Given the description of an element on the screen output the (x, y) to click on. 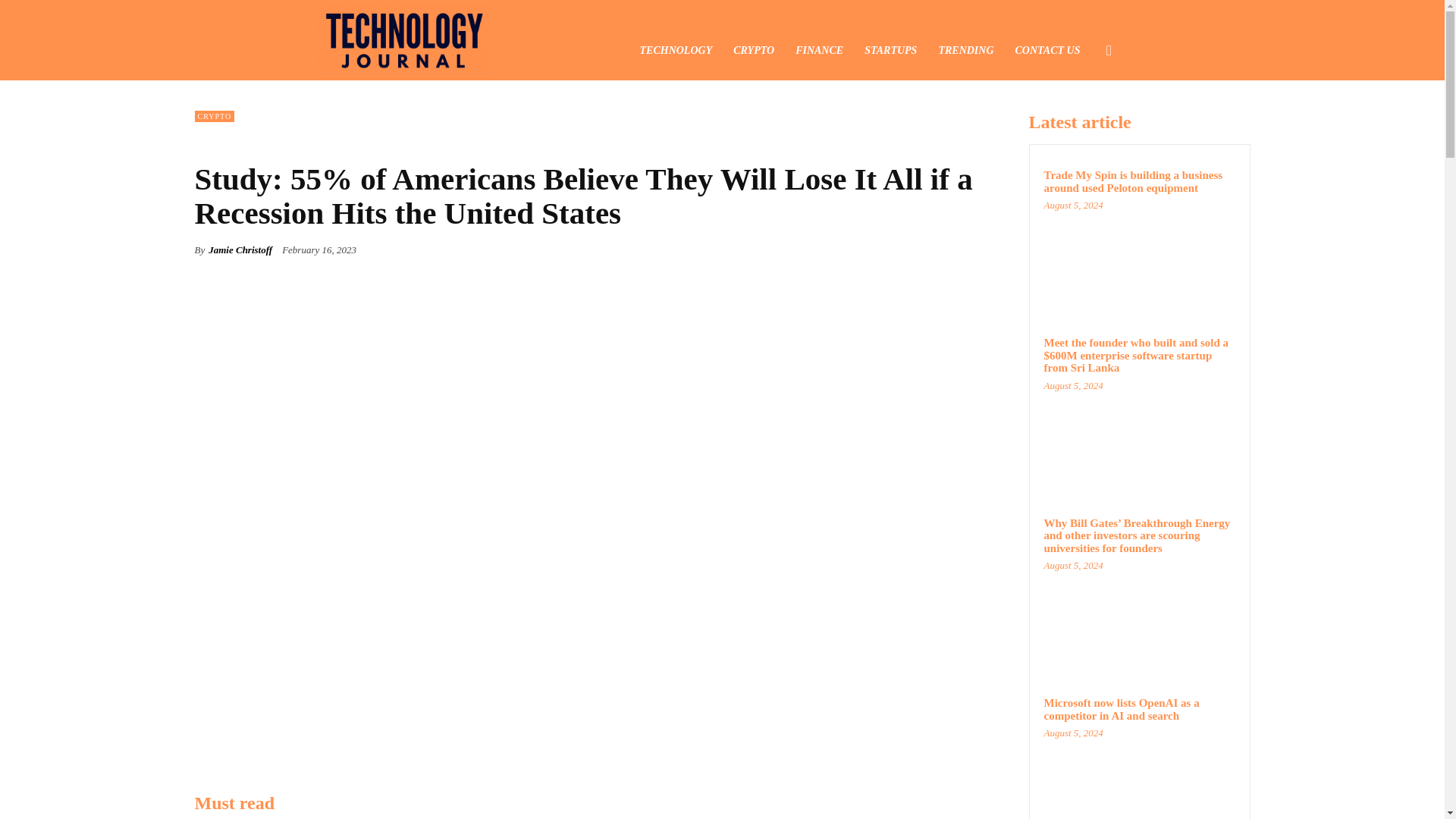
Jamie Christoff (240, 249)
FINANCE (818, 50)
CRYPTO (213, 116)
Technology Journal Mag (403, 39)
CONTACT US (1047, 50)
CRYPTO (753, 50)
STARTUPS (890, 50)
TECHNOLOGY (675, 50)
Search (1085, 122)
TRENDING (965, 50)
